Given the description of an element on the screen output the (x, y) to click on. 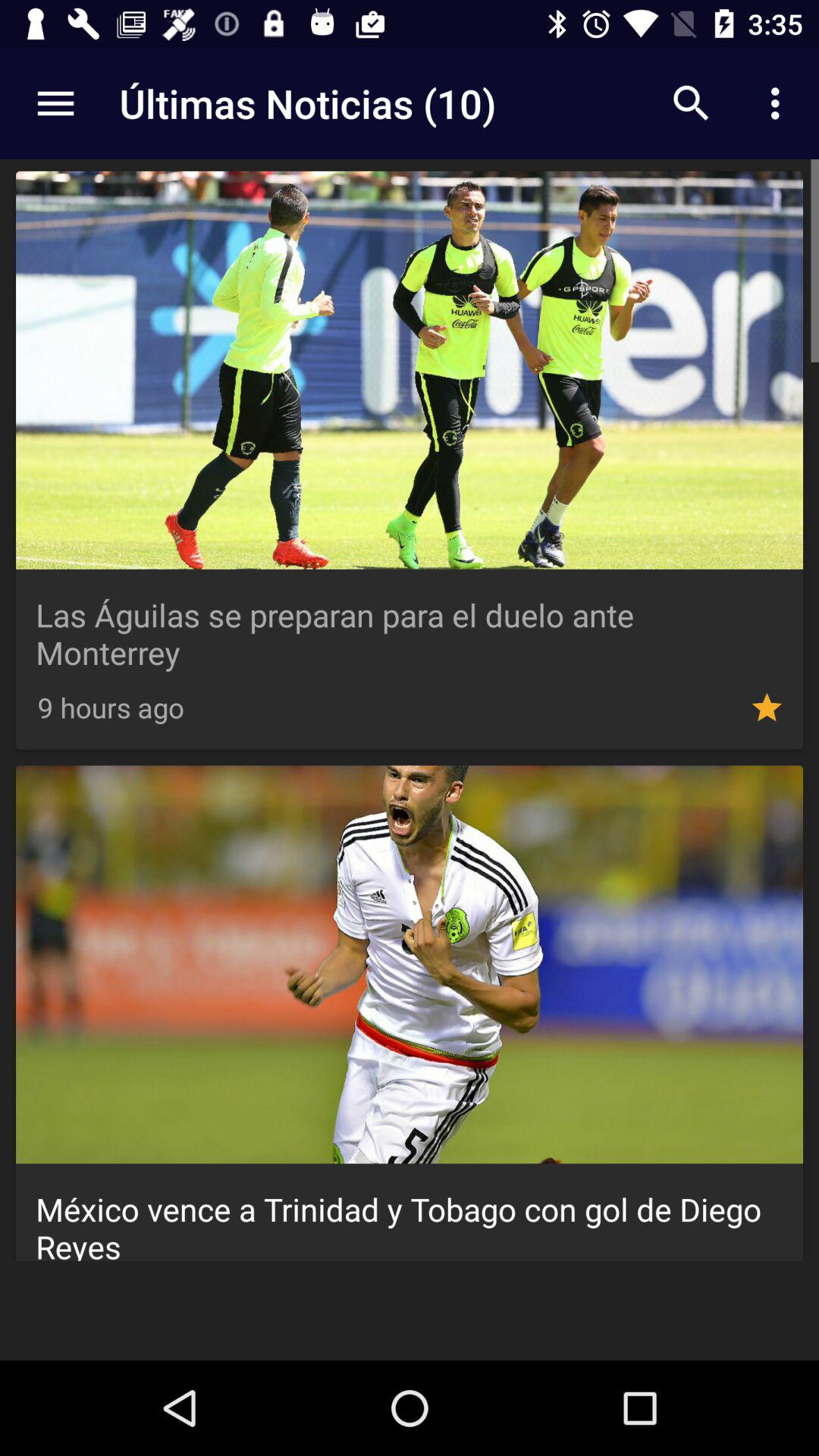
click on second image (409, 1012)
click on the second image (409, 964)
select the option which indicates star (766, 707)
